Given the description of an element on the screen output the (x, y) to click on. 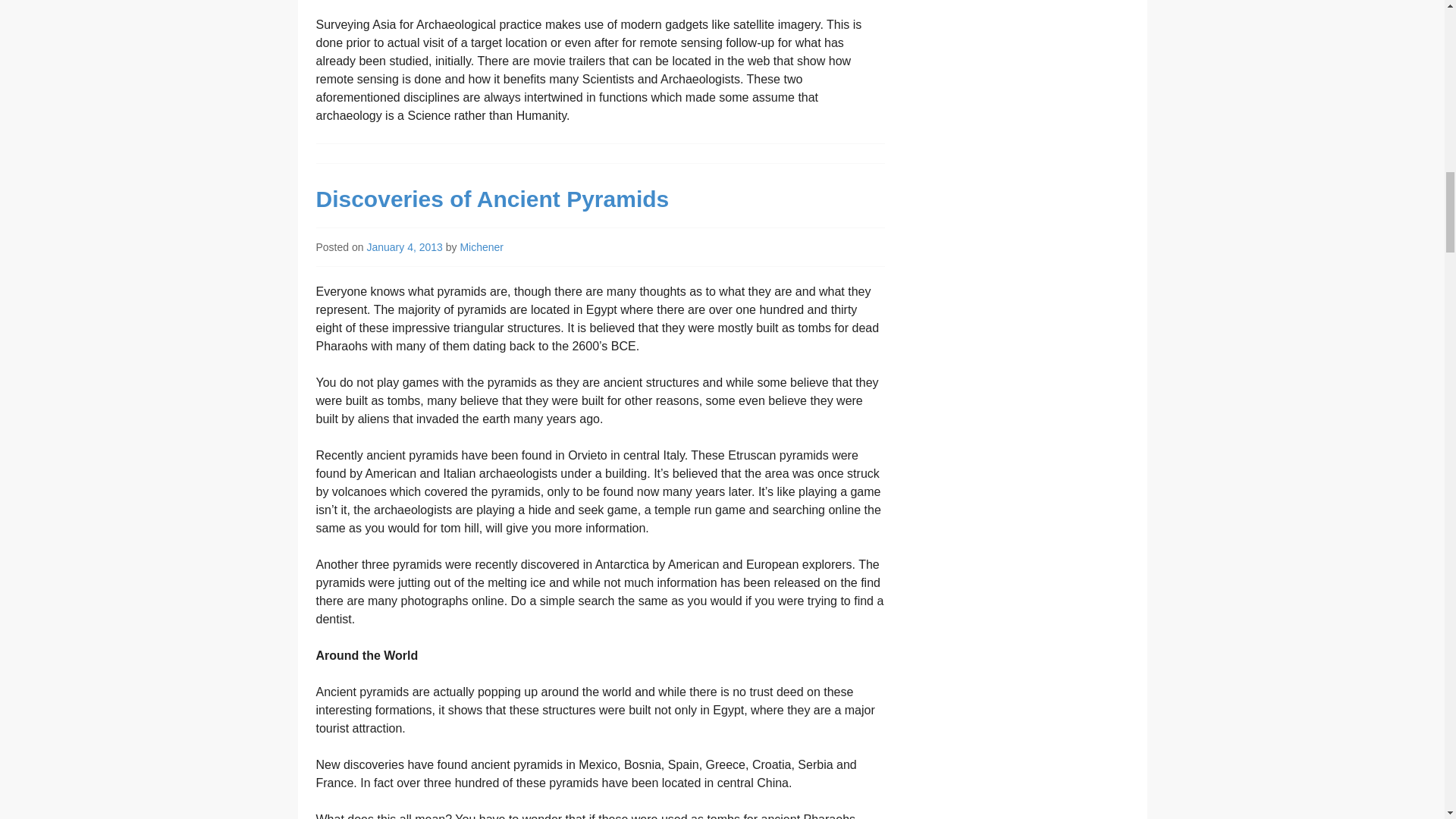
January 4, 2013 (404, 246)
Michener (481, 246)
Discoveries of Ancient Pyramids (491, 198)
